Given the description of an element on the screen output the (x, y) to click on. 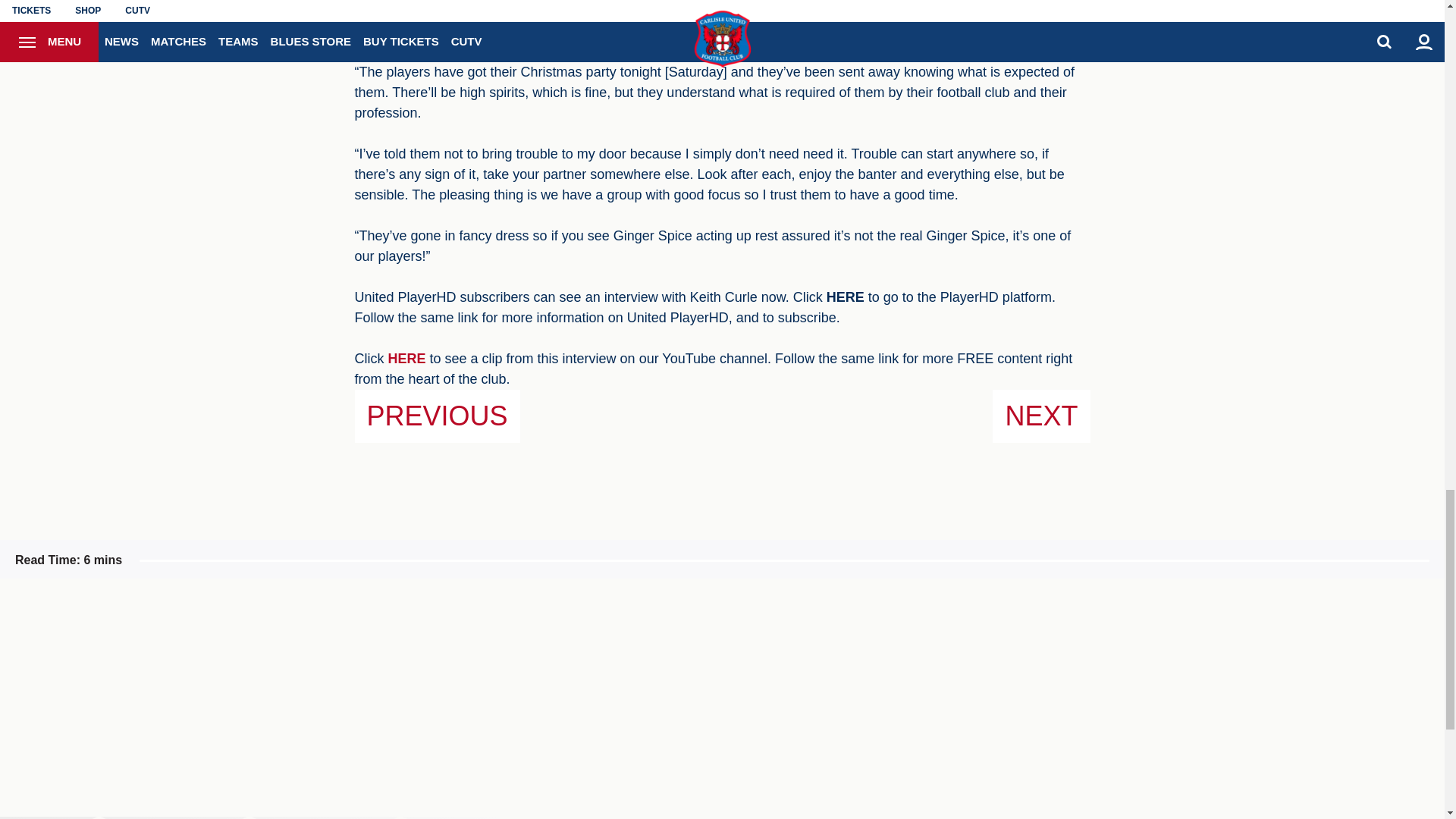
3rd party ad content (1098, 697)
3rd party ad content (846, 697)
3rd party ad content (595, 697)
YouTube (407, 358)
3rd party ad content (344, 697)
